Given the description of an element on the screen output the (x, y) to click on. 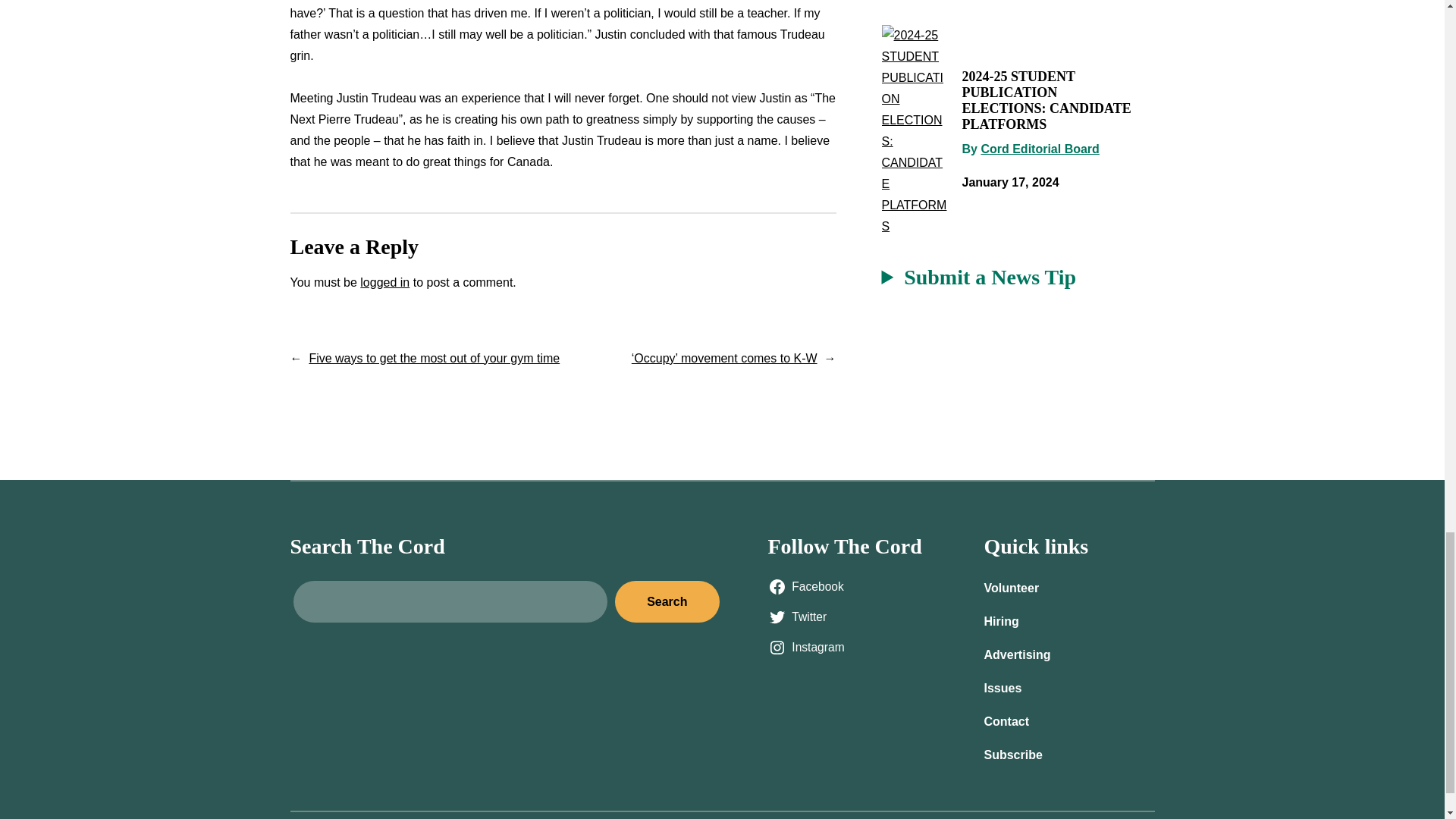
Posts by Cord Editorial Board (1039, 148)
logged in (384, 282)
Five ways to get the most out of your gym time (433, 358)
